Given the description of an element on the screen output the (x, y) to click on. 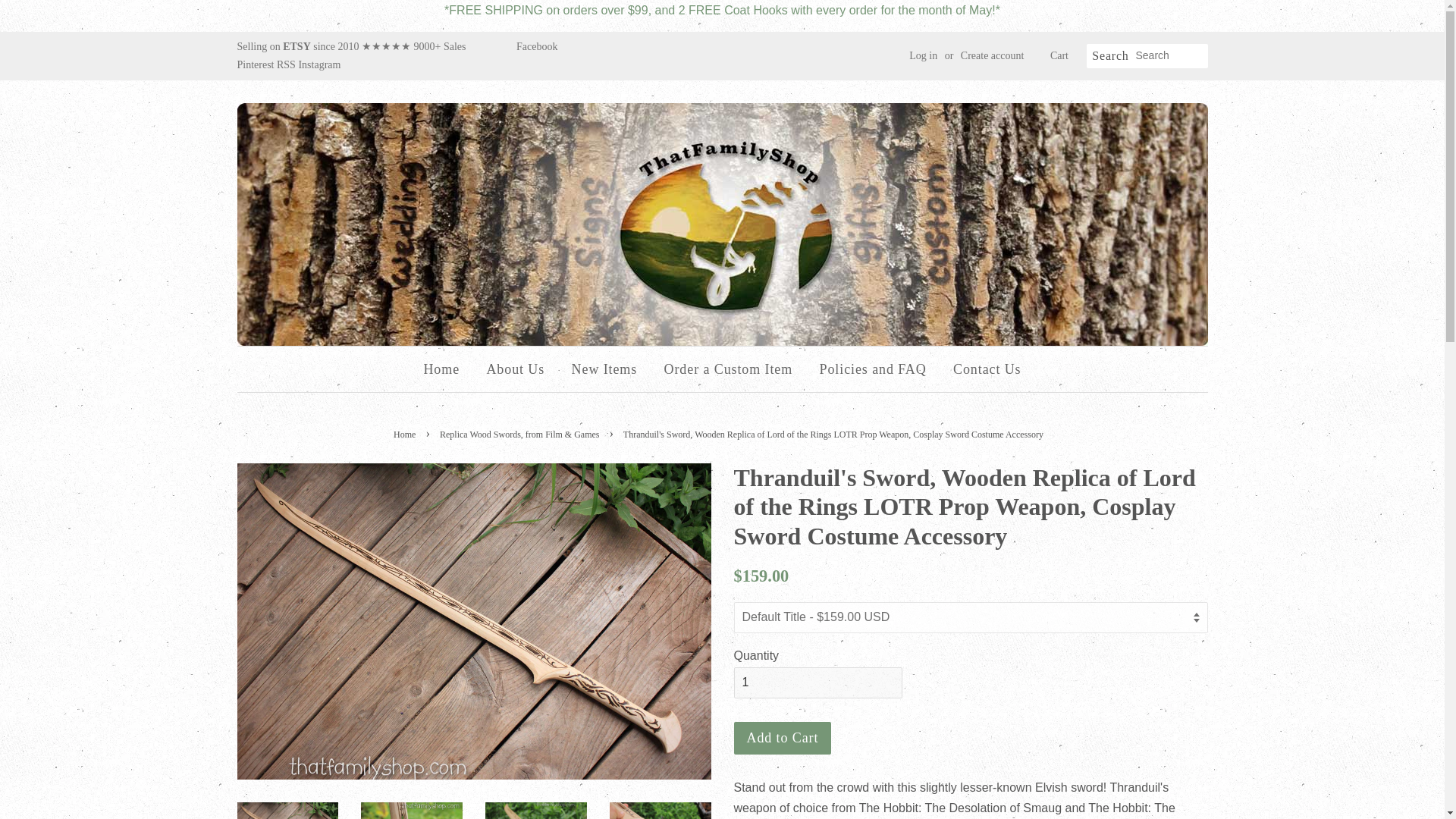
Cart (1058, 55)
thatfamilyshop.com on Pinterest (255, 64)
Log in (922, 55)
Policies and FAQ (872, 369)
Order a Custom Item (728, 369)
Instagram (319, 64)
ETSY (296, 46)
Facebook (536, 46)
Pinterest (255, 64)
thatfamilyshop.com on Instagram (319, 64)
RSS (287, 64)
Contact Us (982, 369)
Search (1110, 56)
Home (406, 434)
New Items (604, 369)
